Given the description of an element on the screen output the (x, y) to click on. 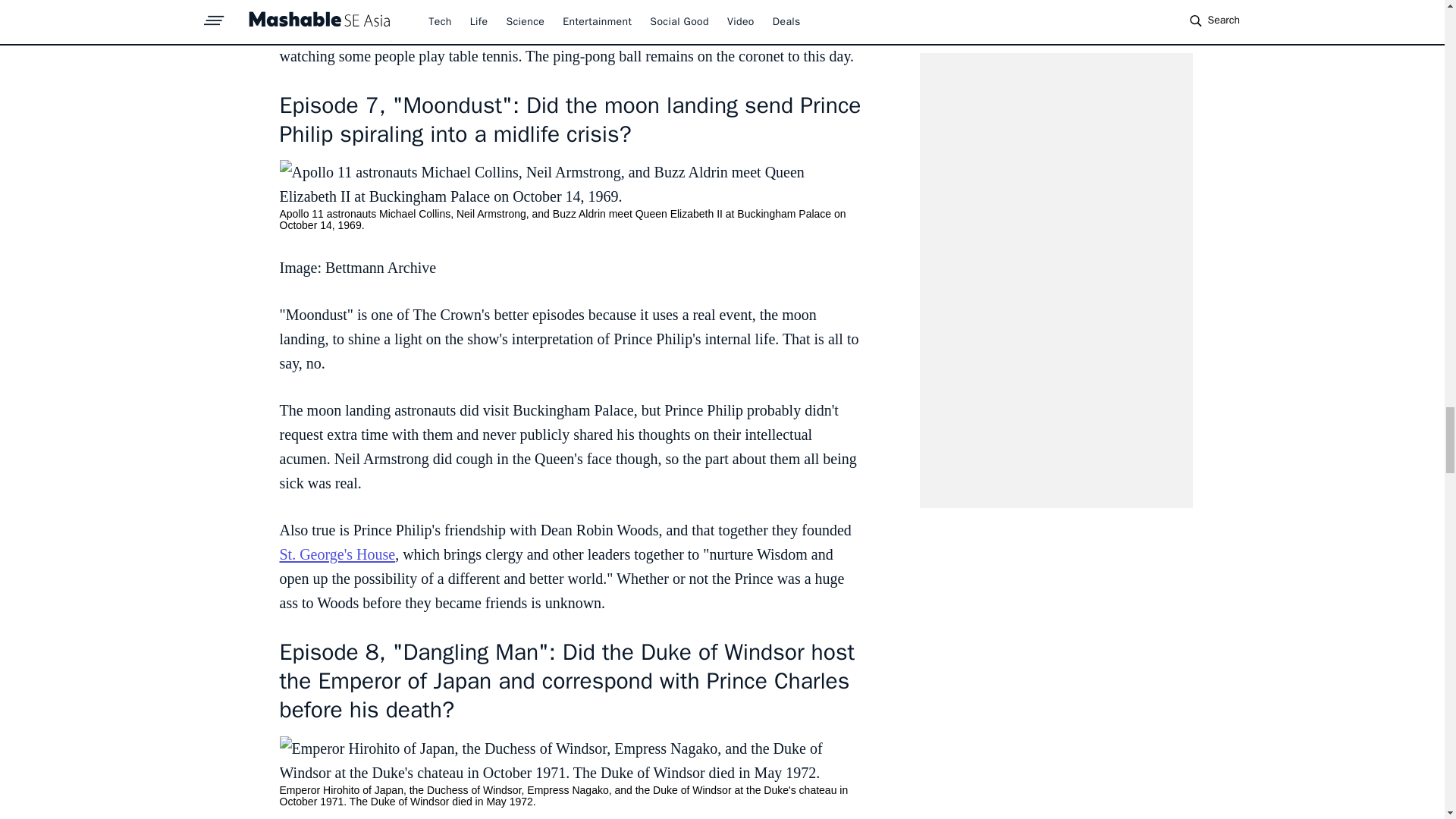
St. George's House (336, 554)
